Given the description of an element on the screen output the (x, y) to click on. 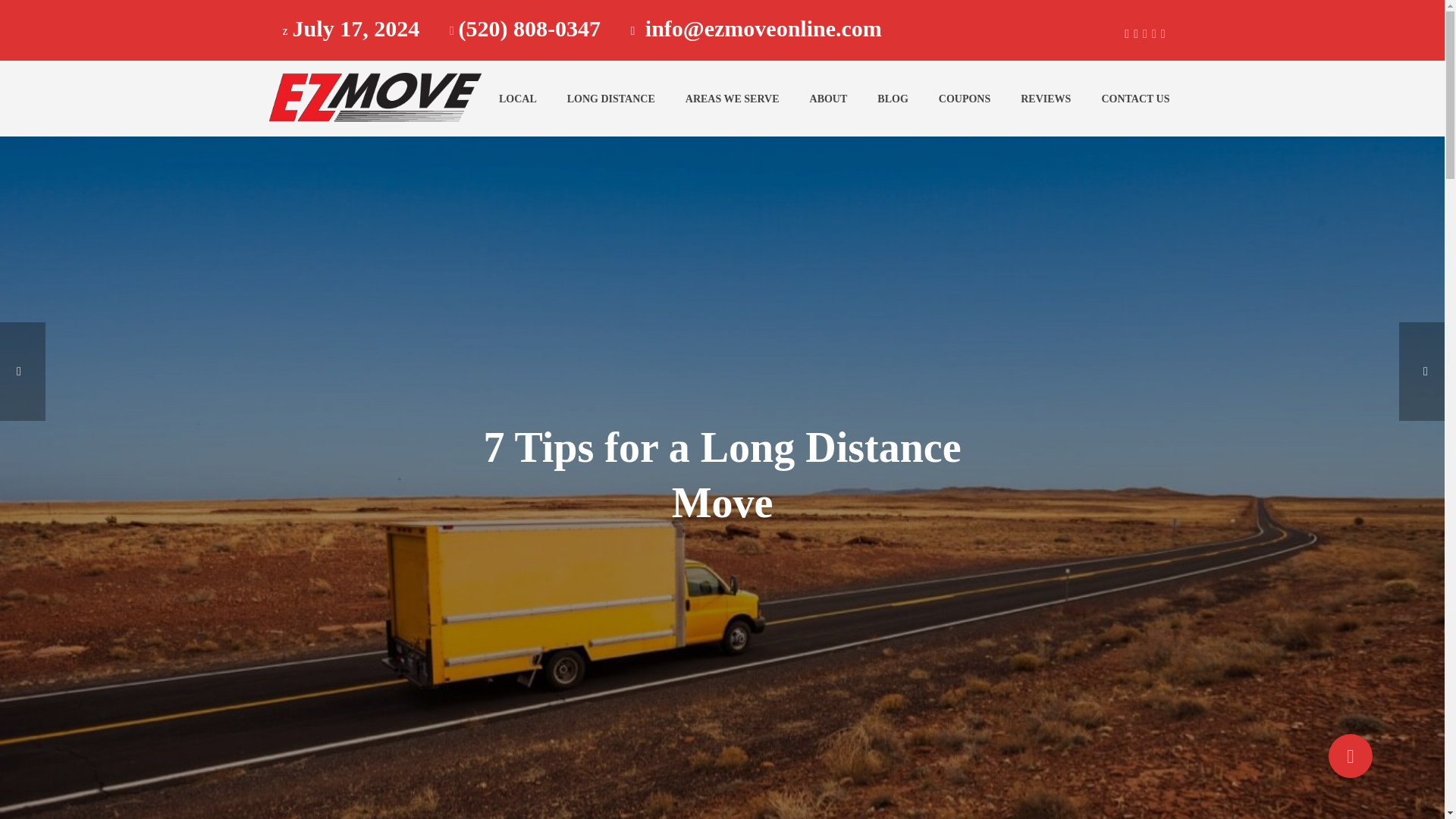
ABOUT (828, 99)
LONG DISTANCE (610, 99)
REVIEWS (1046, 99)
ABOUT (828, 99)
E-Z Move (372, 97)
REVIEWS (1046, 99)
COUPONS (964, 99)
LONG DISTANCE (610, 99)
AREAS WE SERVE (731, 99)
CONTACT US (1135, 99)
BLOG (892, 99)
CONTACT US (1135, 99)
COUPONS (964, 99)
LOCAL (517, 99)
BLOG (892, 99)
